Given the description of an element on the screen output the (x, y) to click on. 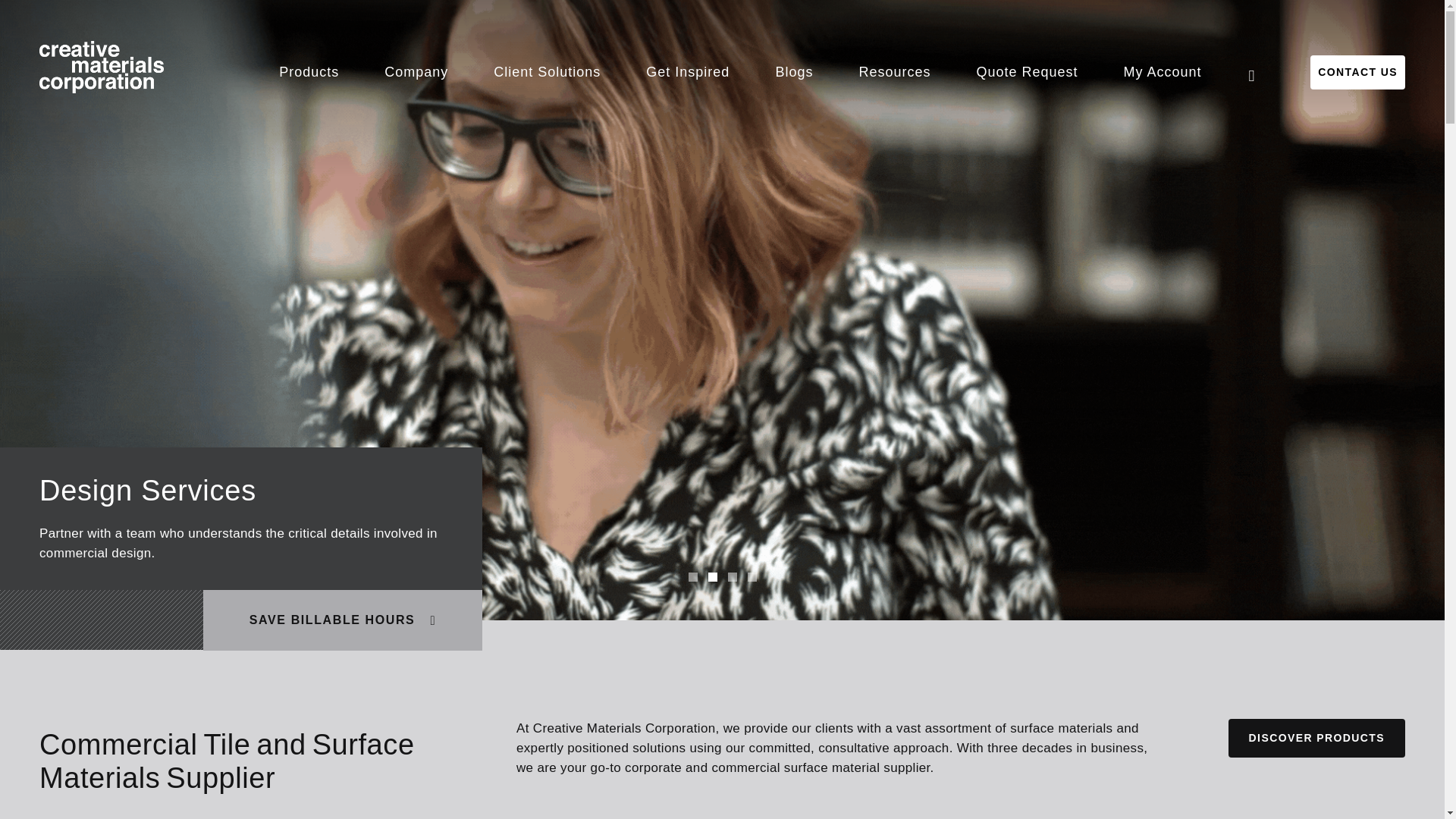
Products (308, 72)
